Given the description of an element on the screen output the (x, y) to click on. 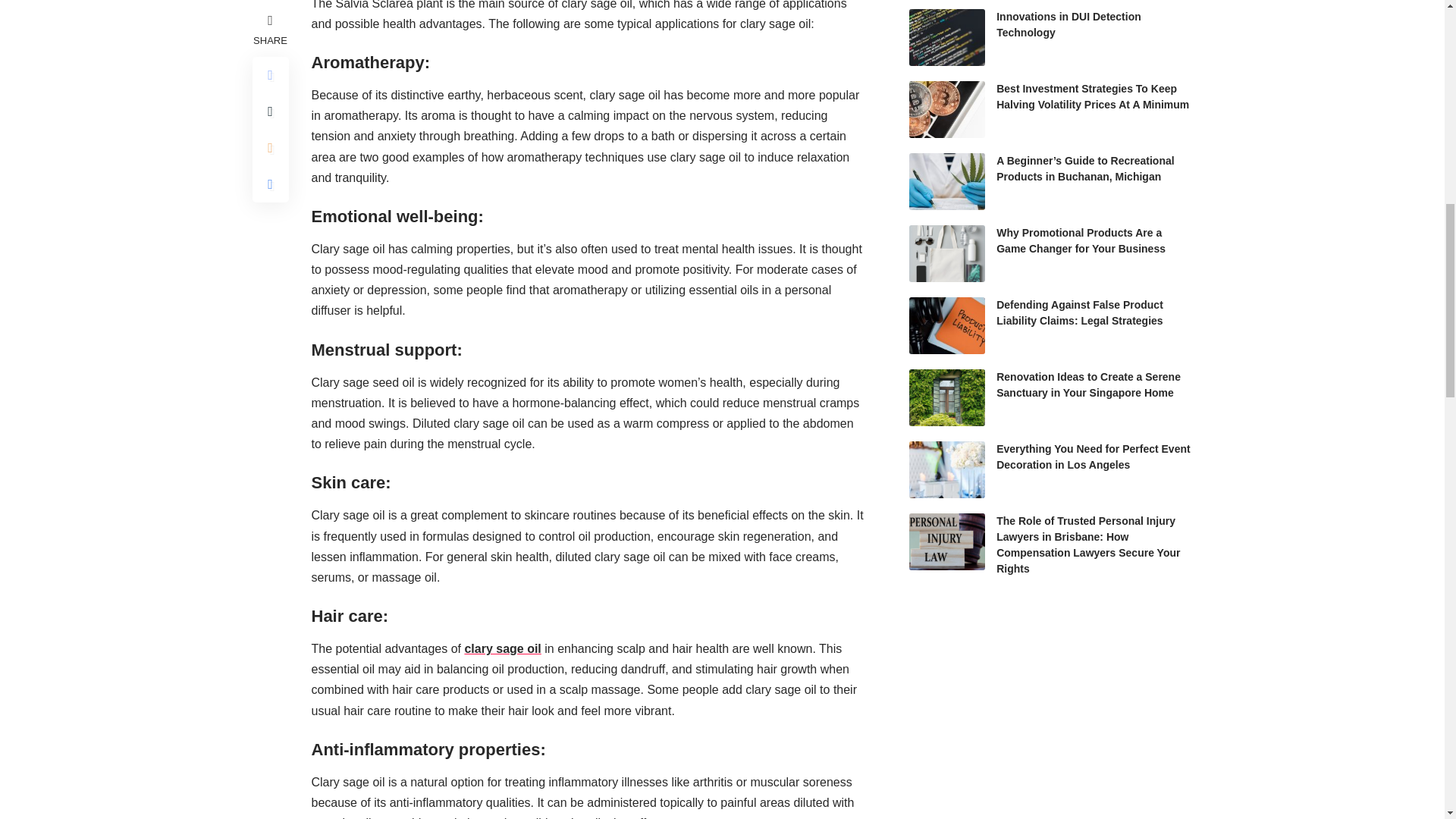
Innovations in DUI Detection Technology (946, 37)
